Given the description of an element on the screen output the (x, y) to click on. 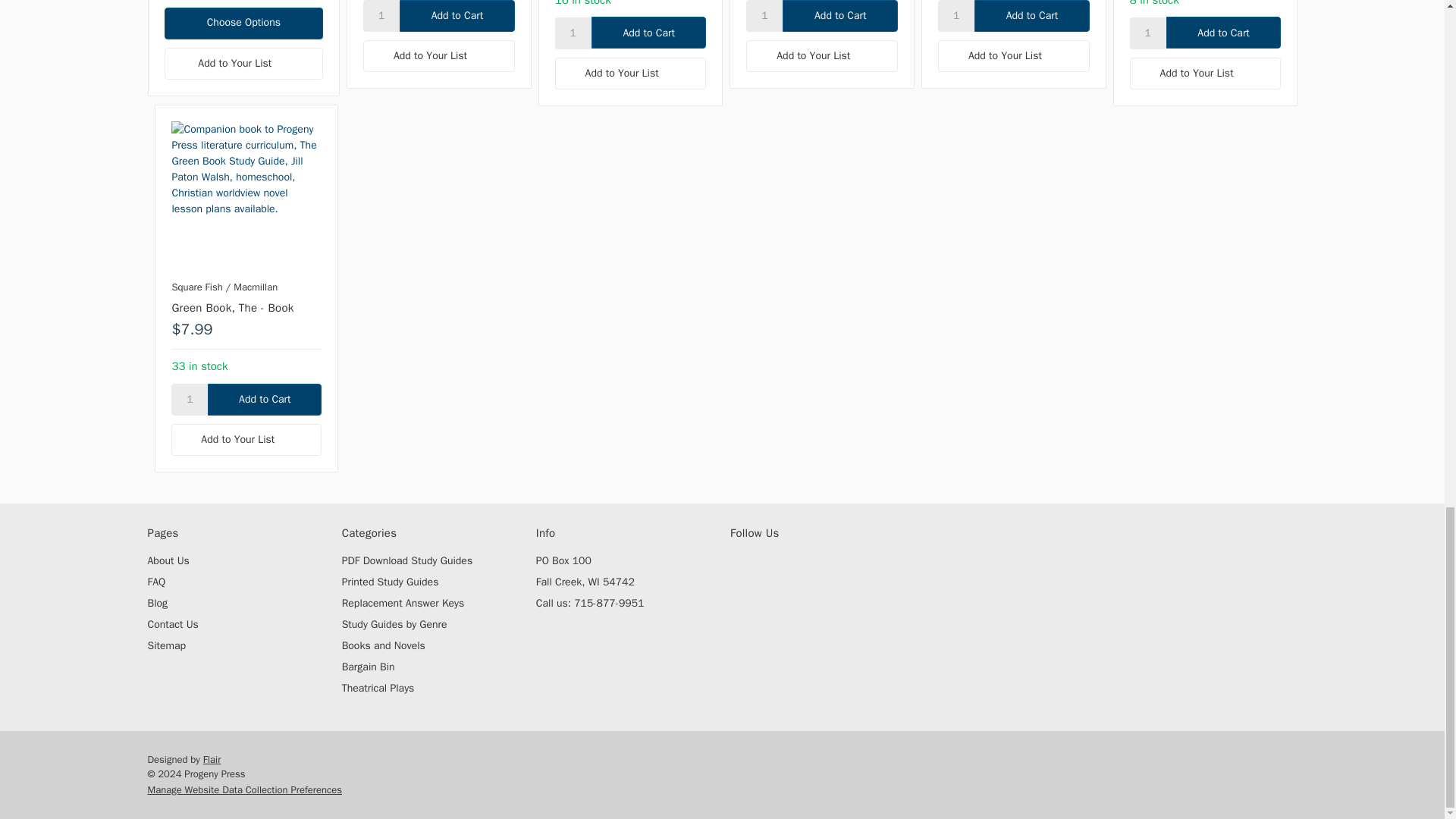
Add to Your List (1013, 56)
Add to Cart (1031, 15)
1 (955, 15)
Add to Your List (438, 56)
1 (189, 399)
Add to Cart (840, 15)
Add to Cart (1223, 32)
Add to Your List (821, 56)
1 (380, 15)
Add to Cart (456, 15)
1 (572, 33)
1 (1147, 33)
Add to Cart (648, 32)
Add to Cart (264, 399)
Add to Your List (630, 73)
